Given the description of an element on the screen output the (x, y) to click on. 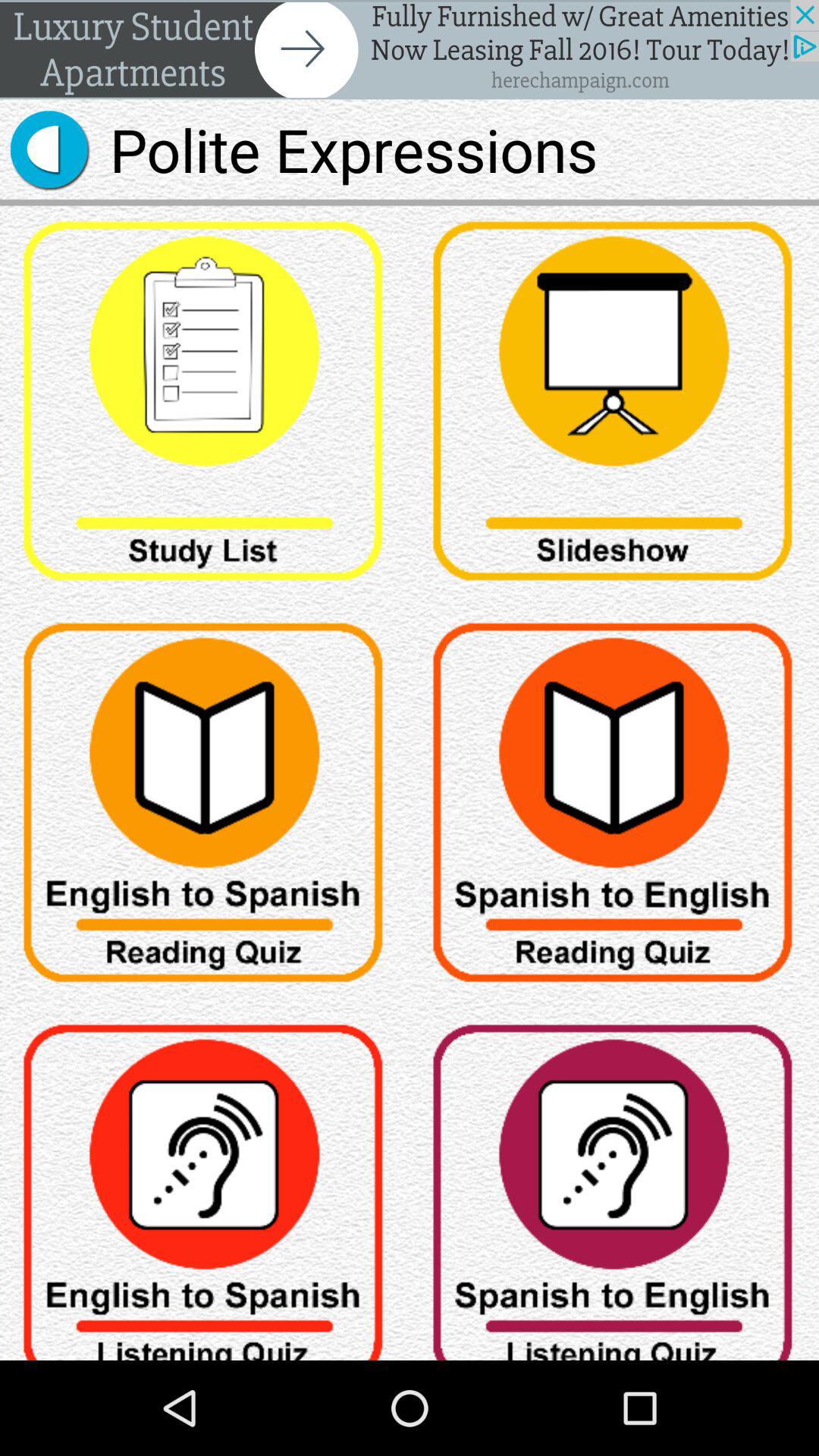
listen to quiz (614, 1184)
